Given the description of an element on the screen output the (x, y) to click on. 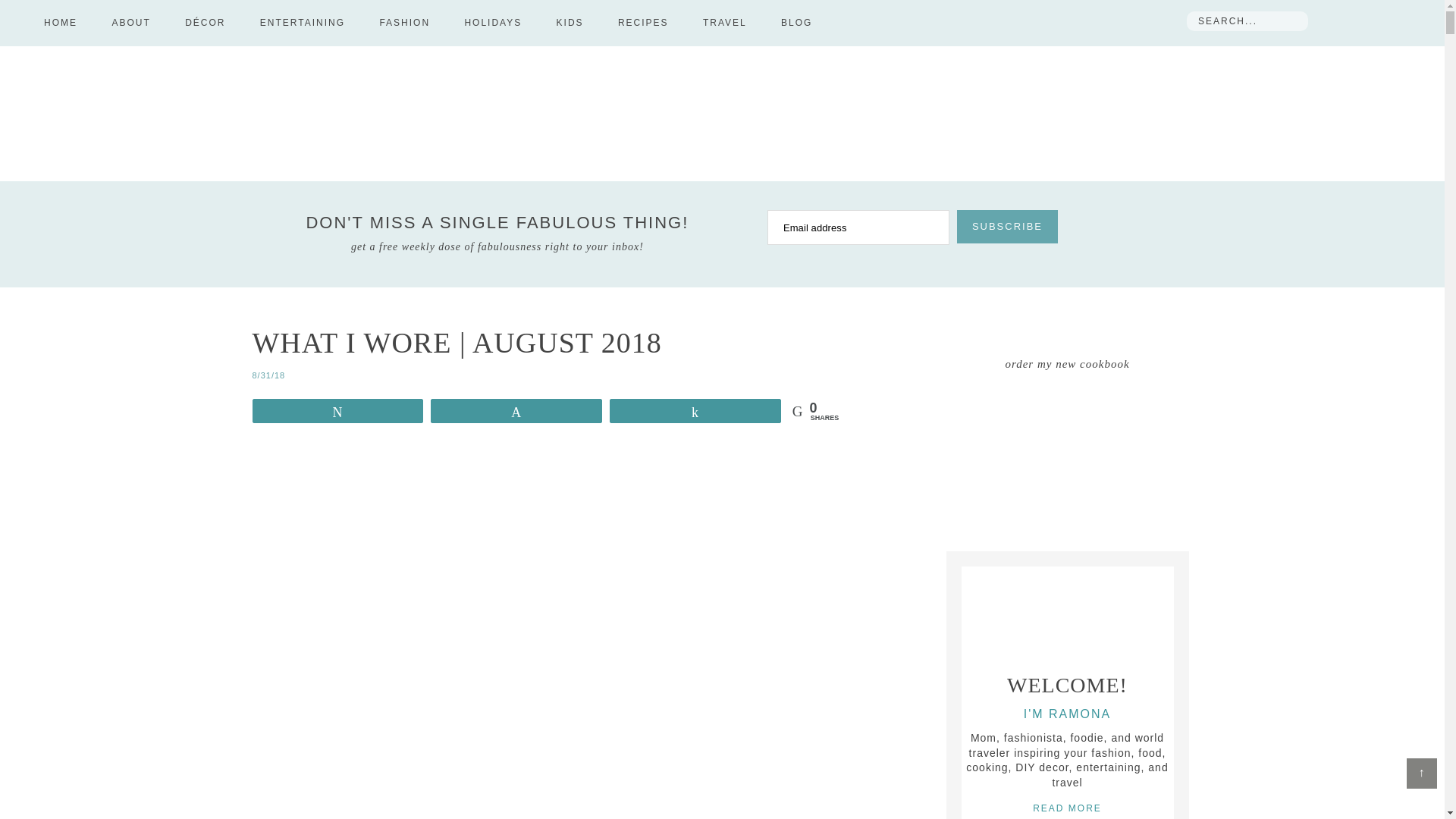
HOME (61, 22)
ABOUT (130, 22)
RECIPES (643, 22)
FASHION (404, 22)
HOLIDAYS (492, 22)
ENTERTAINING (301, 22)
KIDS (569, 22)
